Given the description of an element on the screen output the (x, y) to click on. 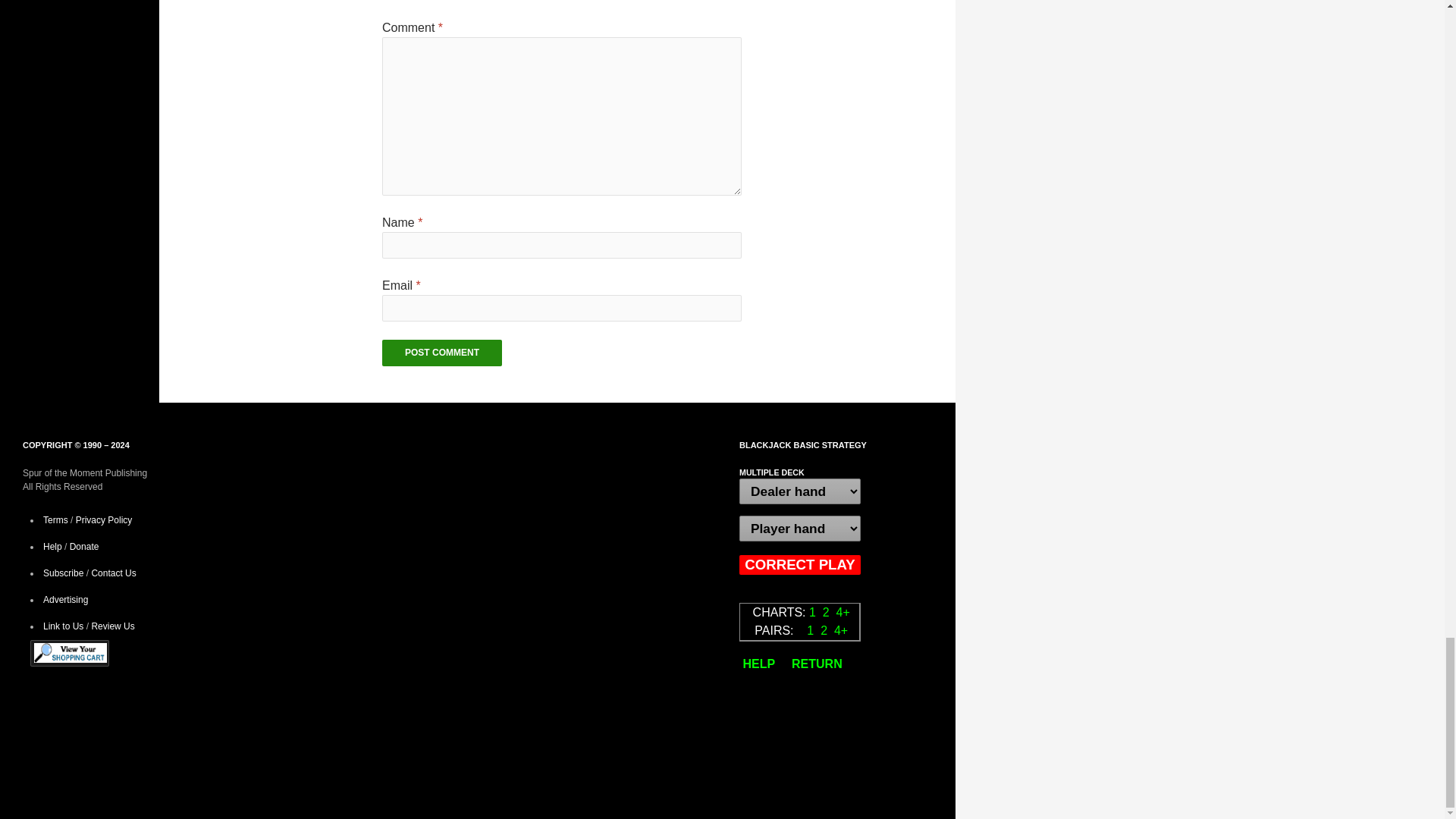
Post Comment (441, 352)
